Given the description of an element on the screen output the (x, y) to click on. 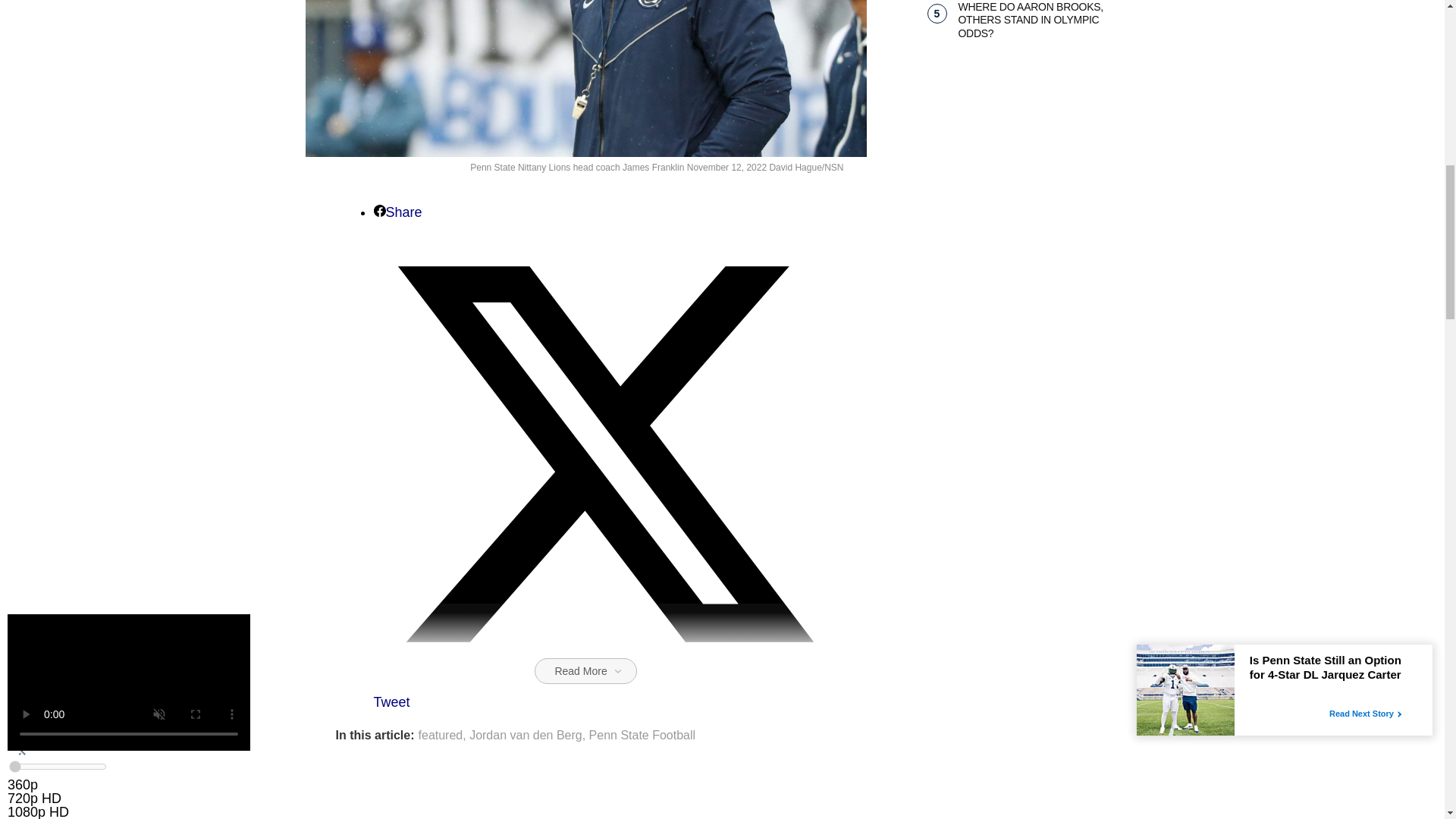
Share on Share (397, 212)
Share on Tweet (603, 691)
